Given the description of an element on the screen output the (x, y) to click on. 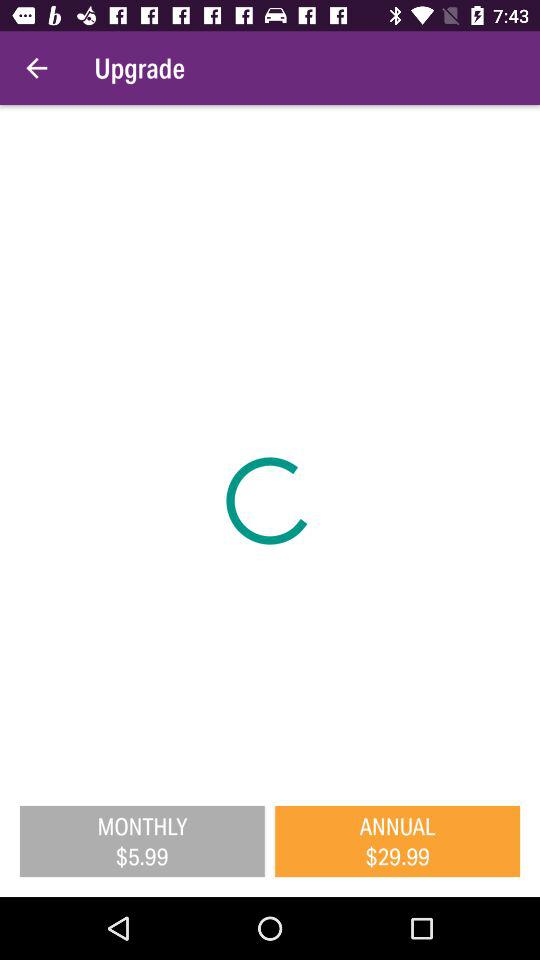
choose the item to the left of the annual
$29.99 item (141, 841)
